Given the description of an element on the screen output the (x, y) to click on. 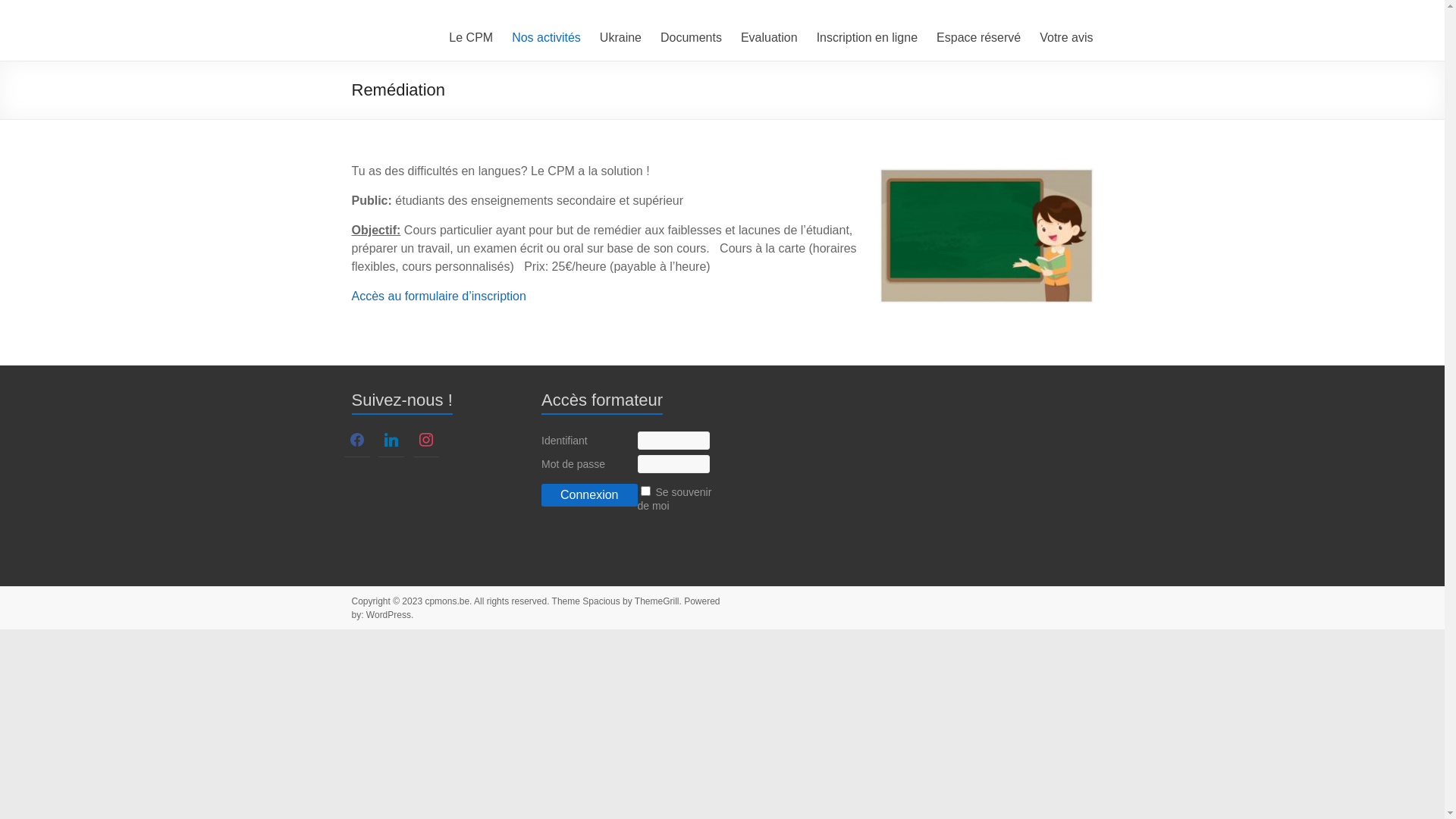
linkedin Element type: text (391, 438)
facebook Element type: text (357, 438)
instagram Element type: text (426, 438)
Ukraine Element type: text (620, 37)
Inscription en ligne Element type: text (866, 37)
Evaluation Element type: text (768, 37)
Le CPM Element type: text (470, 37)
cpmons.be Element type: text (446, 601)
WordPress Element type: text (388, 614)
Documents Element type: text (690, 37)
cpmons.be Element type: text (416, 31)
Votre avis Element type: text (1065, 37)
Connexion Element type: text (589, 494)
Spacious Element type: text (600, 601)
